Given the description of an element on the screen output the (x, y) to click on. 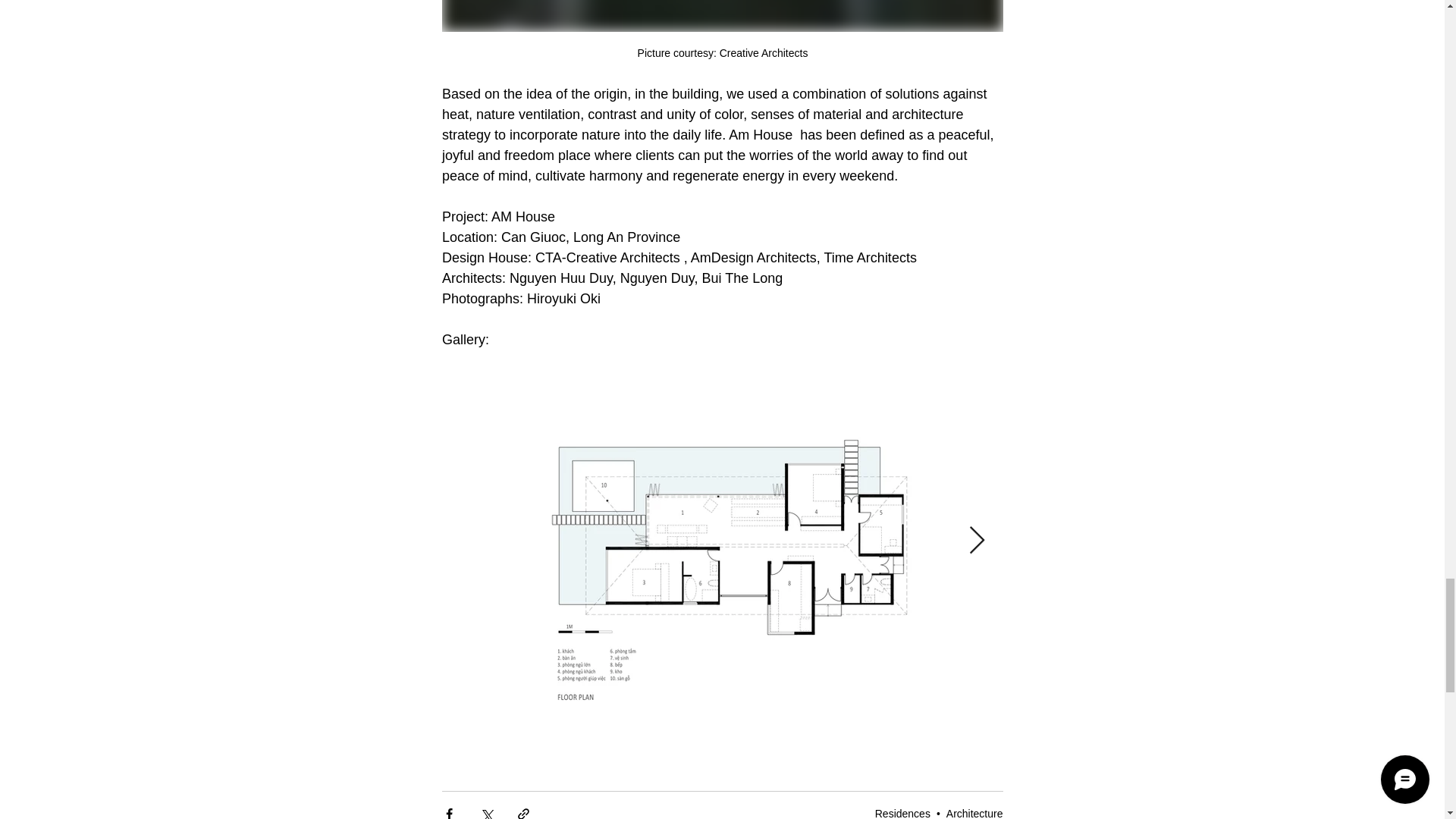
Architecture (974, 813)
Residences (902, 813)
